Given the description of an element on the screen output the (x, y) to click on. 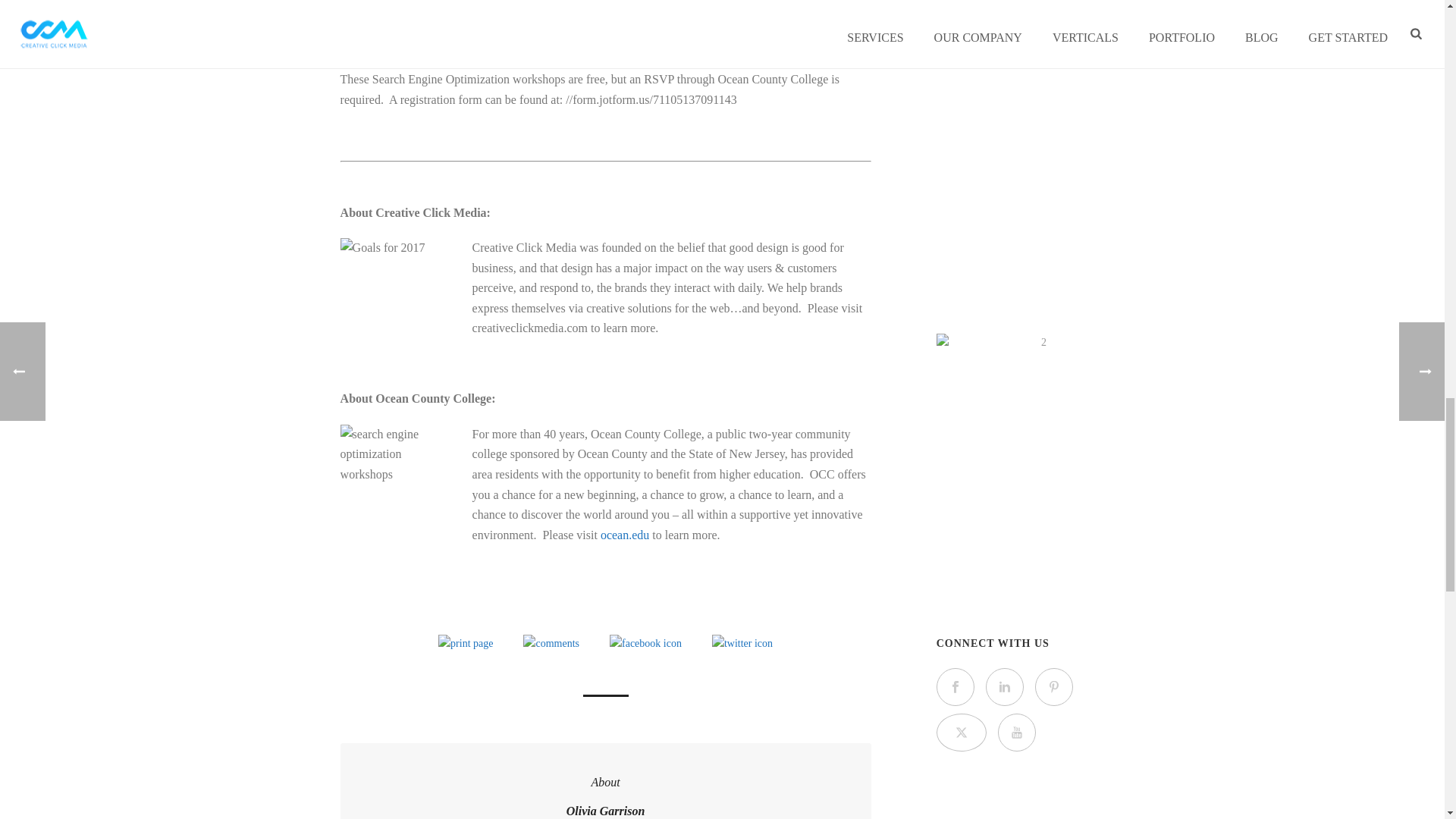
Follow Us on facebook (955, 686)
Follow Us on pinterest (1054, 686)
Follow Us on youtube (1016, 732)
Follow Us on twitter (961, 732)
Print (465, 642)
Follow Us on linkedin (1004, 686)
